Given the description of an element on the screen output the (x, y) to click on. 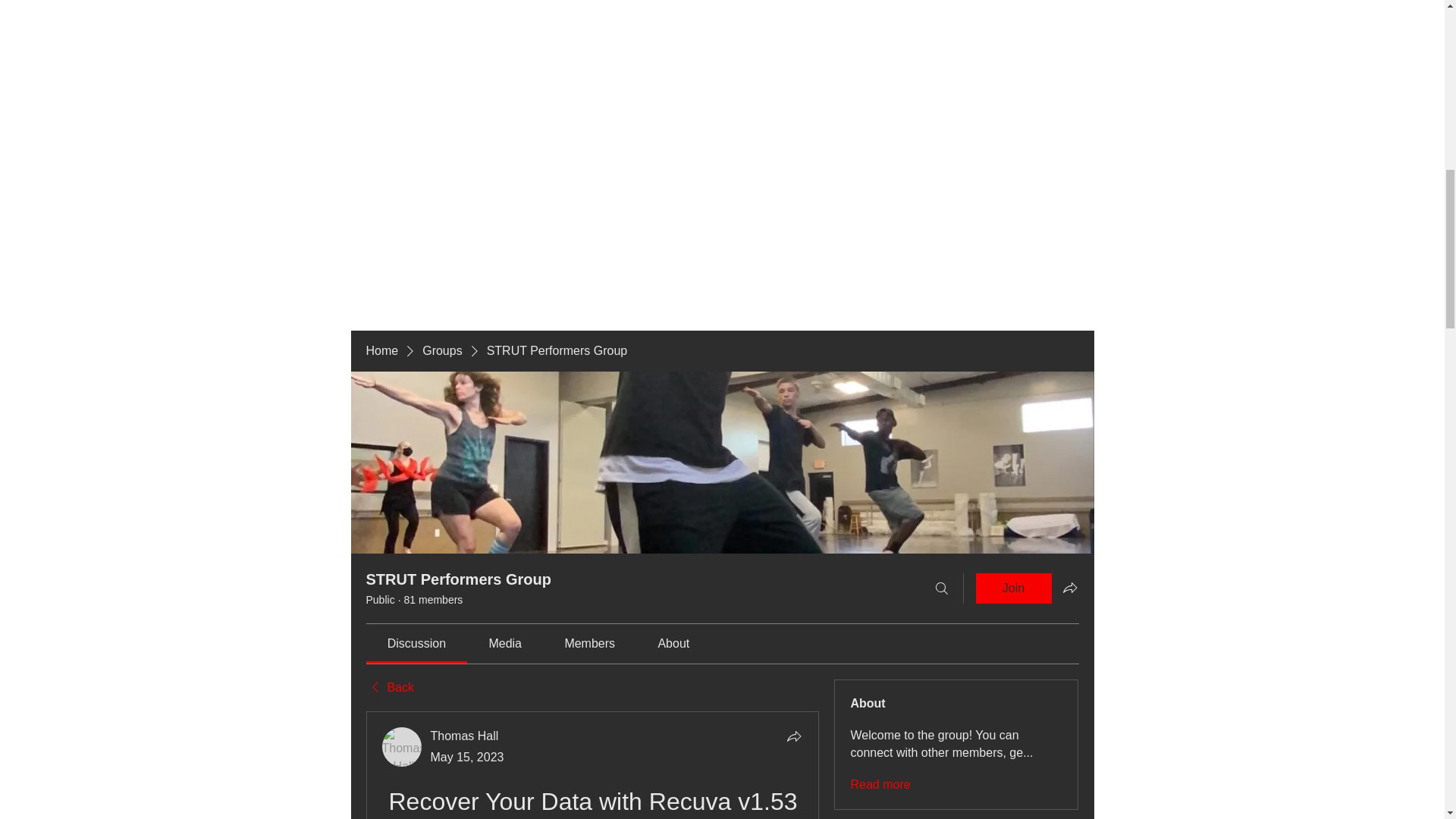
Read more (880, 784)
Back (389, 687)
Groups (441, 351)
Thomas Hall (401, 746)
Thomas Hall (464, 735)
Home (381, 351)
May 15, 2023 (466, 757)
Join (1013, 588)
